Given the description of an element on the screen output the (x, y) to click on. 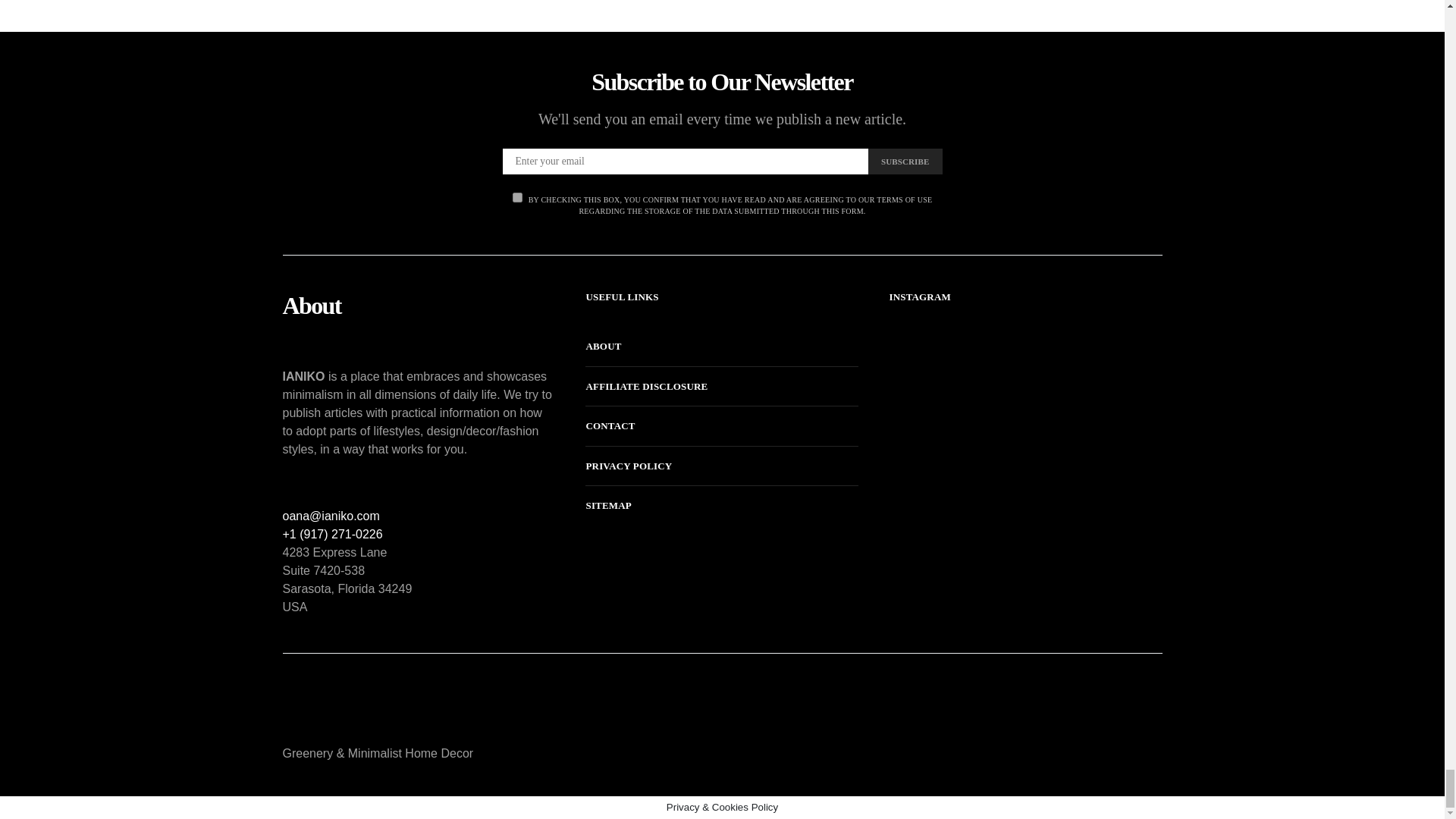
on (517, 197)
